Given the description of an element on the screen output the (x, y) to click on. 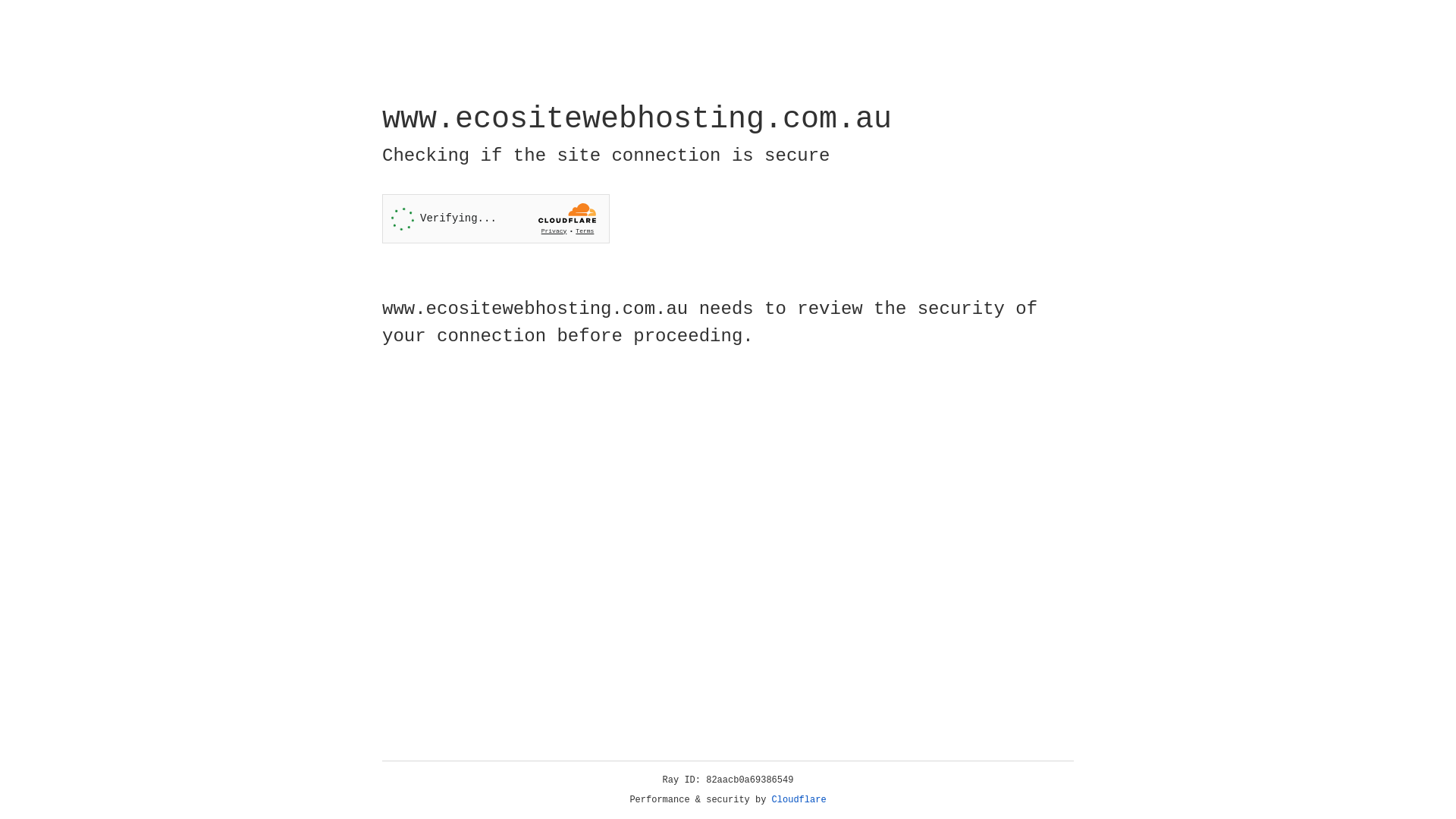
Cloudflare Element type: text (798, 799)
Widget containing a Cloudflare security challenge Element type: hover (495, 218)
